Given the description of an element on the screen output the (x, y) to click on. 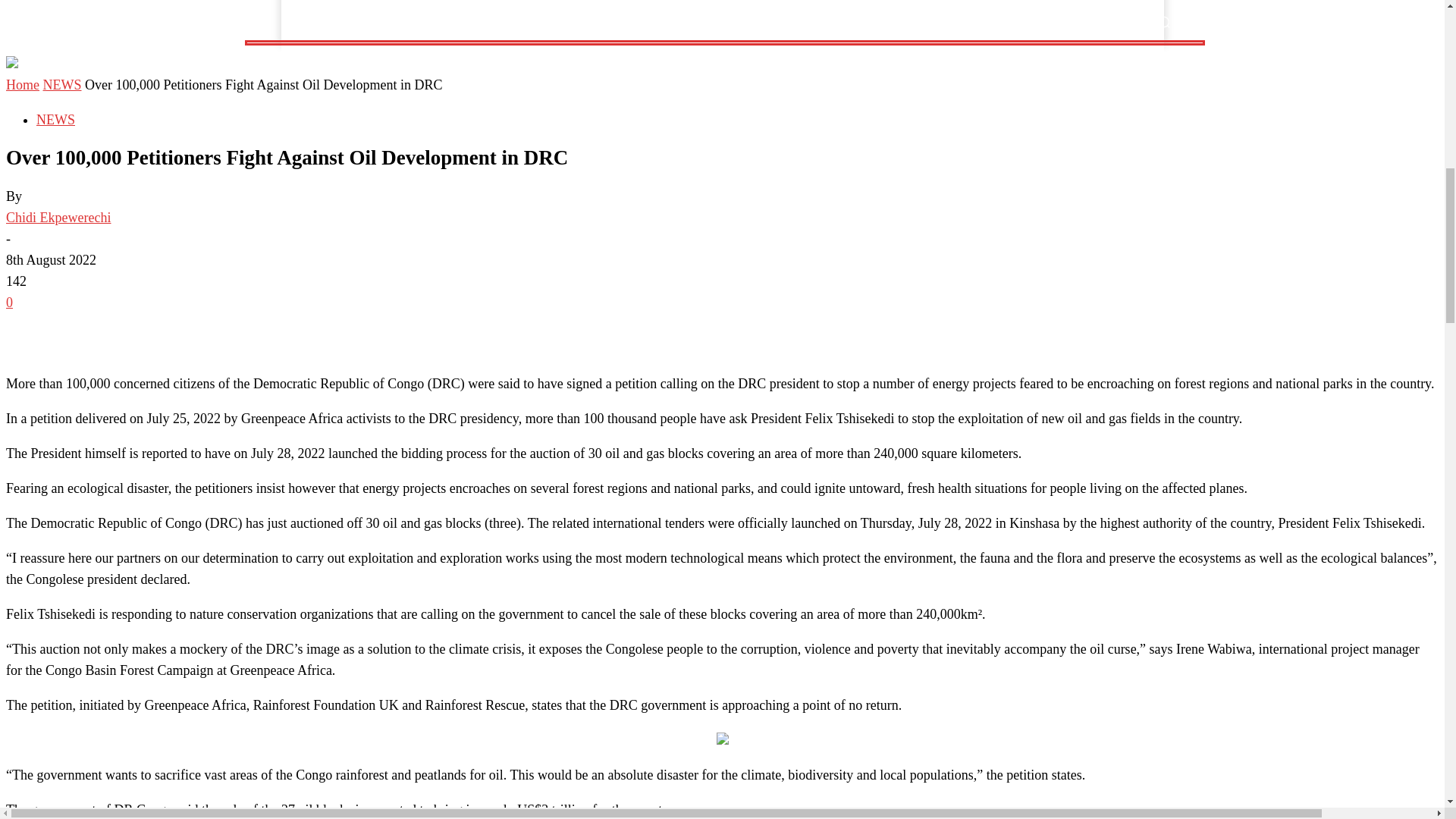
News (352, 21)
Home (307, 21)
